Given the description of an element on the screen output the (x, y) to click on. 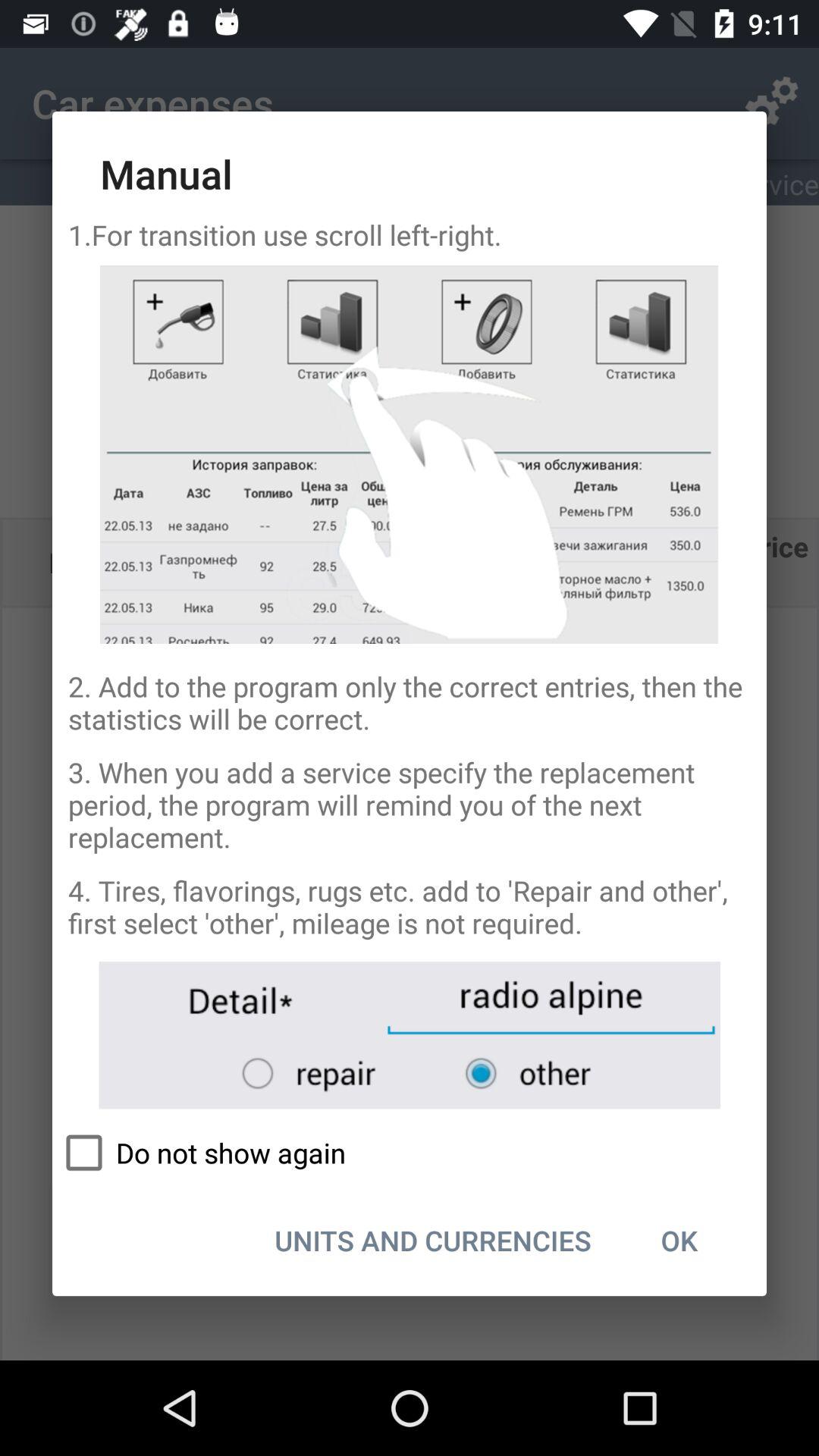
jump to ok item (678, 1240)
